Given the description of an element on the screen output the (x, y) to click on. 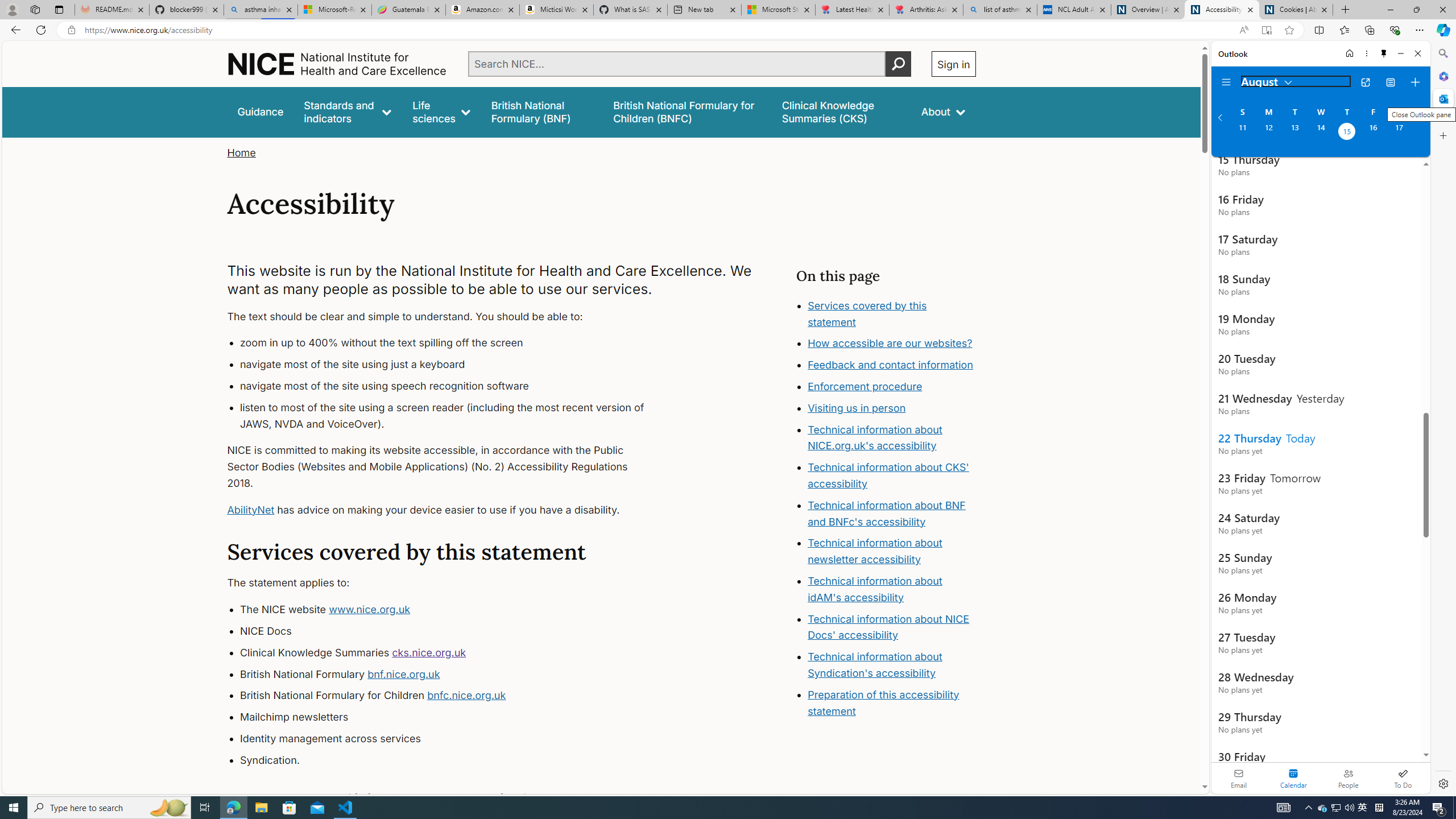
Enforcement procedure (865, 386)
Mailchimp newsletters (452, 717)
How accessible are our websites? (890, 343)
Life sciences (440, 111)
Folder navigation (1225, 82)
Enforcement procedure (891, 386)
AbilityNet (251, 509)
bnf.nice.org.uk (402, 673)
